Given the description of an element on the screen output the (x, y) to click on. 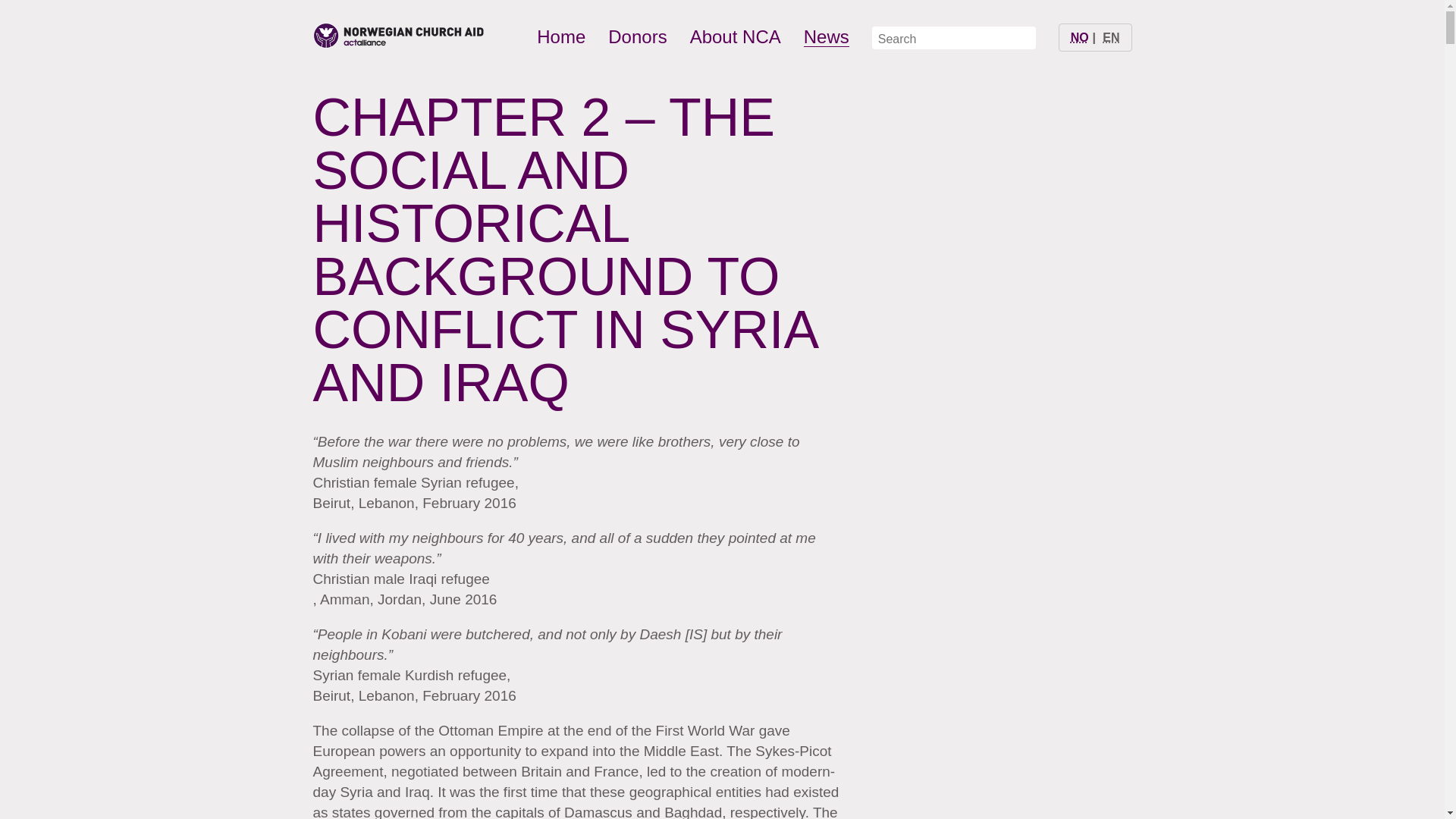
Donors (637, 36)
About NCA (735, 36)
Home (561, 36)
NO (1079, 37)
Norwegian (1079, 37)
News (825, 36)
